Given the description of an element on the screen output the (x, y) to click on. 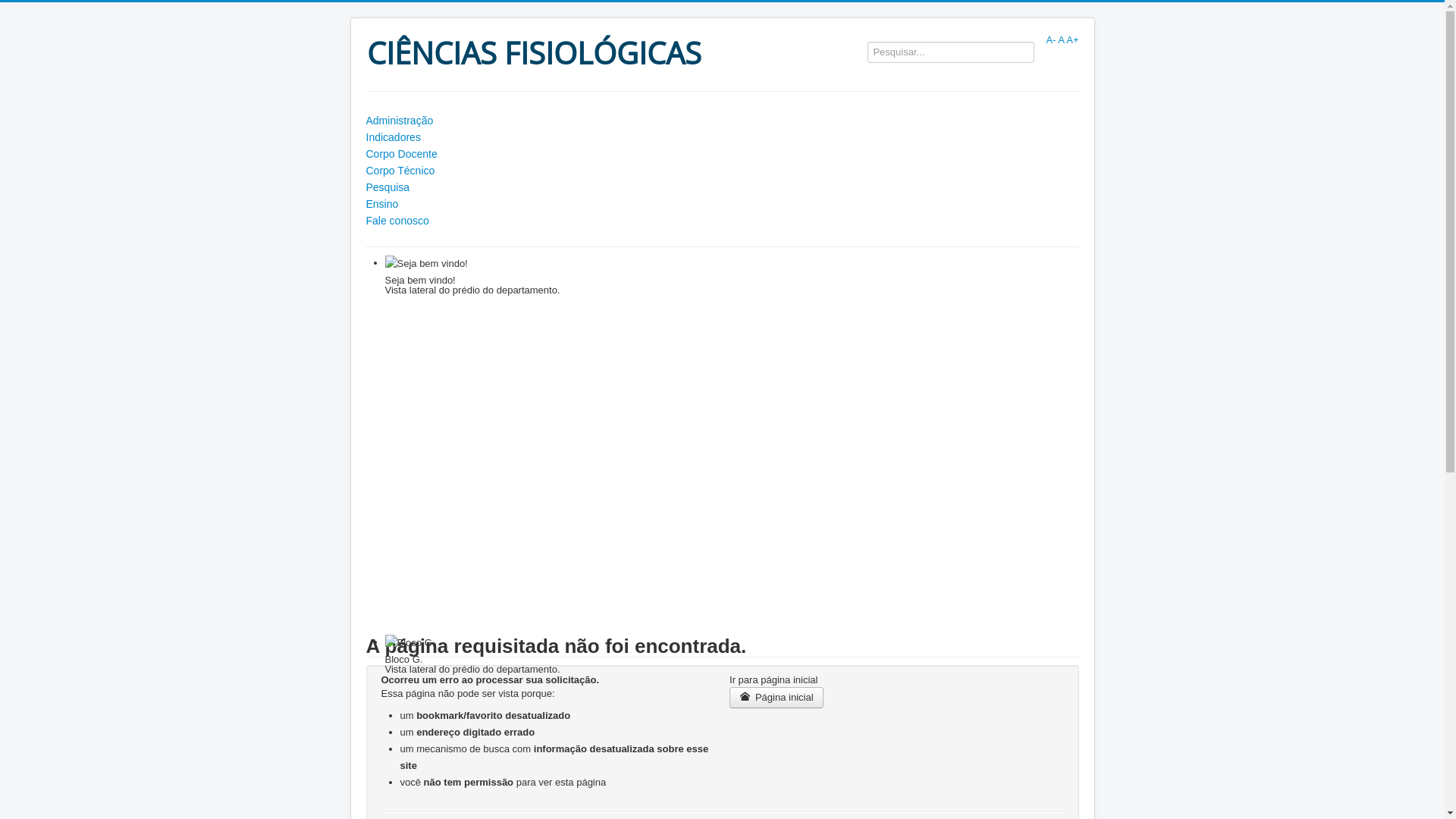
A- Element type: text (1050, 39)
Fale conosco Element type: text (721, 220)
Corpo Docente Element type: text (721, 153)
Indicadores Element type: text (721, 136)
Ensino Element type: text (721, 203)
Pesquisa Element type: text (721, 186)
A+ Element type: text (1072, 39)
A Element type: text (1060, 39)
